Given the description of an element on the screen output the (x, y) to click on. 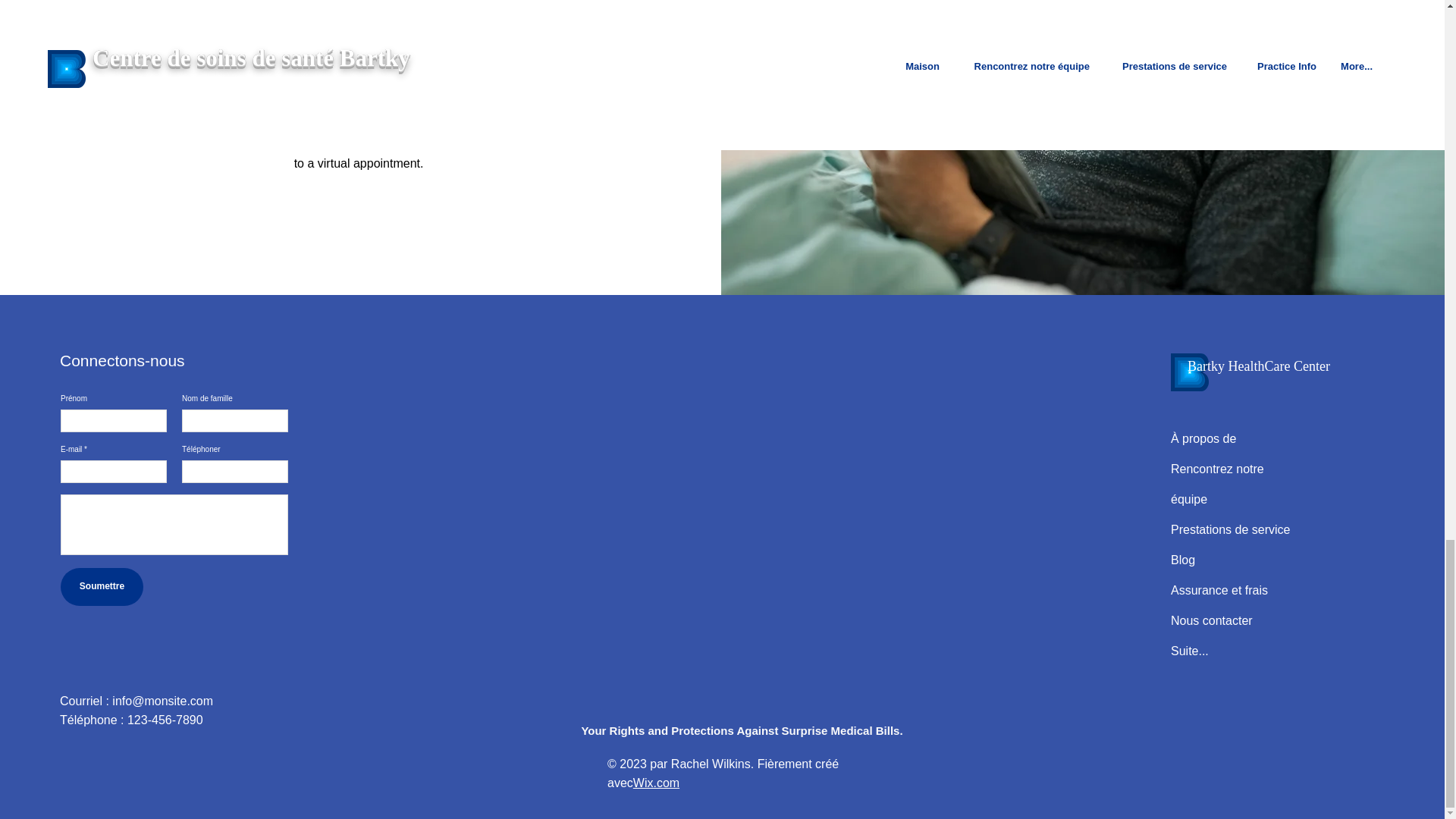
Blog (1182, 559)
Wix.com (656, 782)
Bartky HealthCare Center (1259, 365)
Soumettre (101, 587)
Prestations de service (1230, 529)
Google Maps (741, 509)
Assurance et frais  (1220, 590)
